Given the description of an element on the screen output the (x, y) to click on. 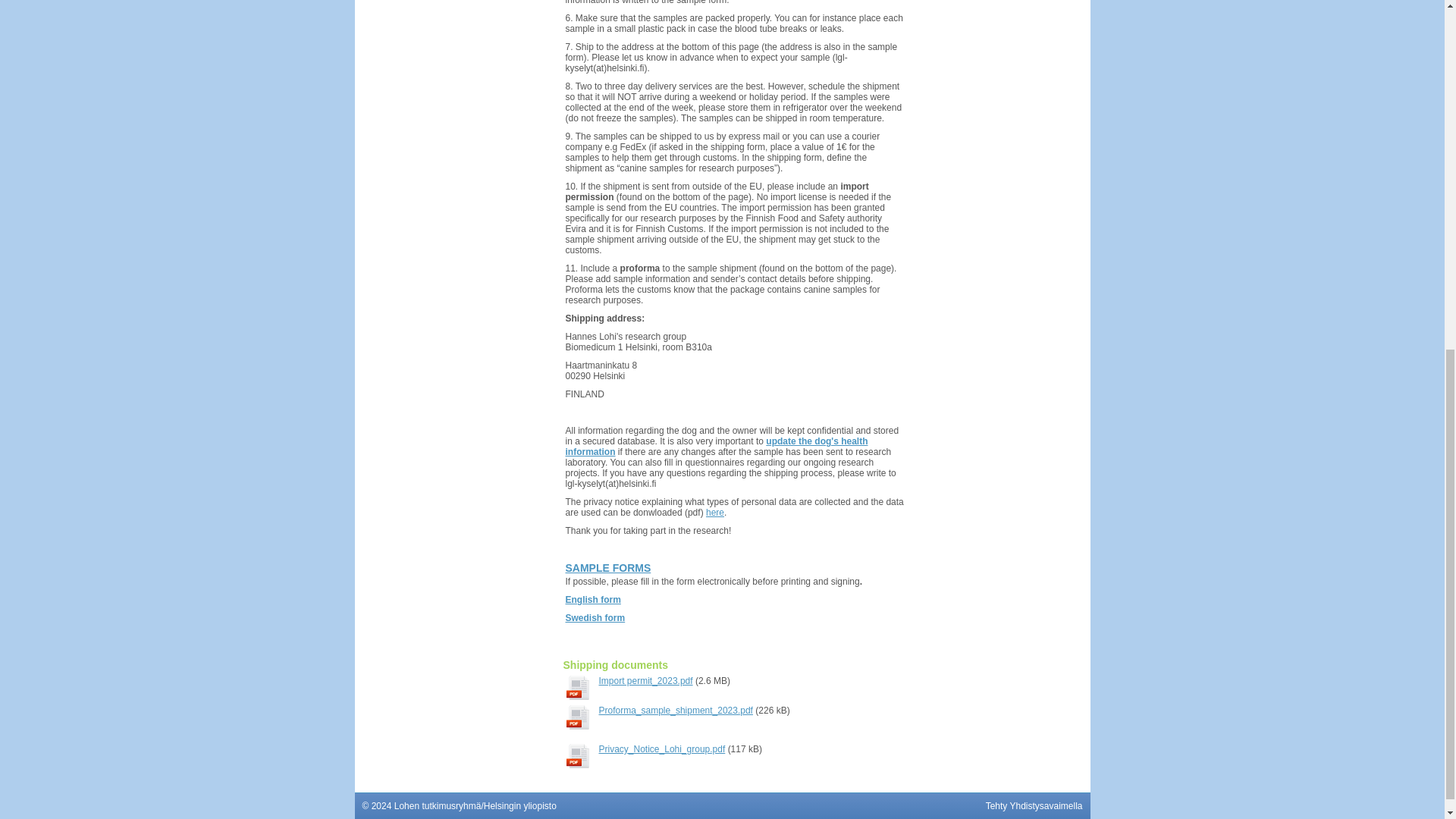
SAMPLE FORMS (608, 567)
Tehty Yhdistysavaimella (1034, 805)
Swedish form (596, 617)
English form (593, 599)
here (714, 511)
update the dog's health information (716, 446)
